Given the description of an element on the screen output the (x, y) to click on. 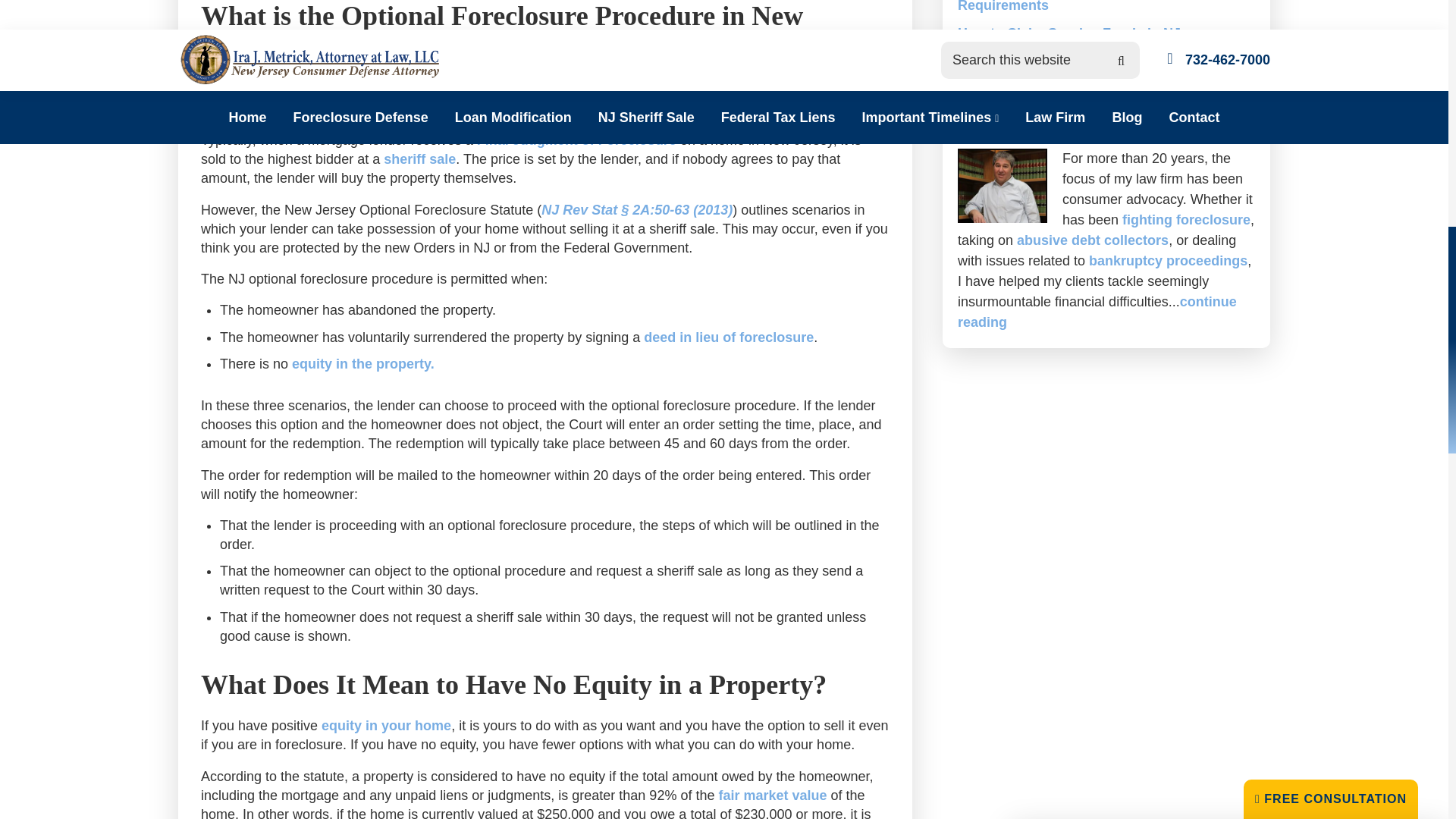
Submit (1229, 362)
equity in your home (386, 725)
sheriff sale (419, 159)
bankruptcy proceedings (1168, 260)
fighting foreclosure (1186, 219)
How to Claim Surplus Funds in NJ (1069, 32)
Final Judgment of Foreclosure (577, 140)
abusive debt collectors (1092, 240)
deed in lieu of foreclosure (728, 337)
equity in the property. (362, 363)
fair market value (772, 795)
